Given the description of an element on the screen output the (x, y) to click on. 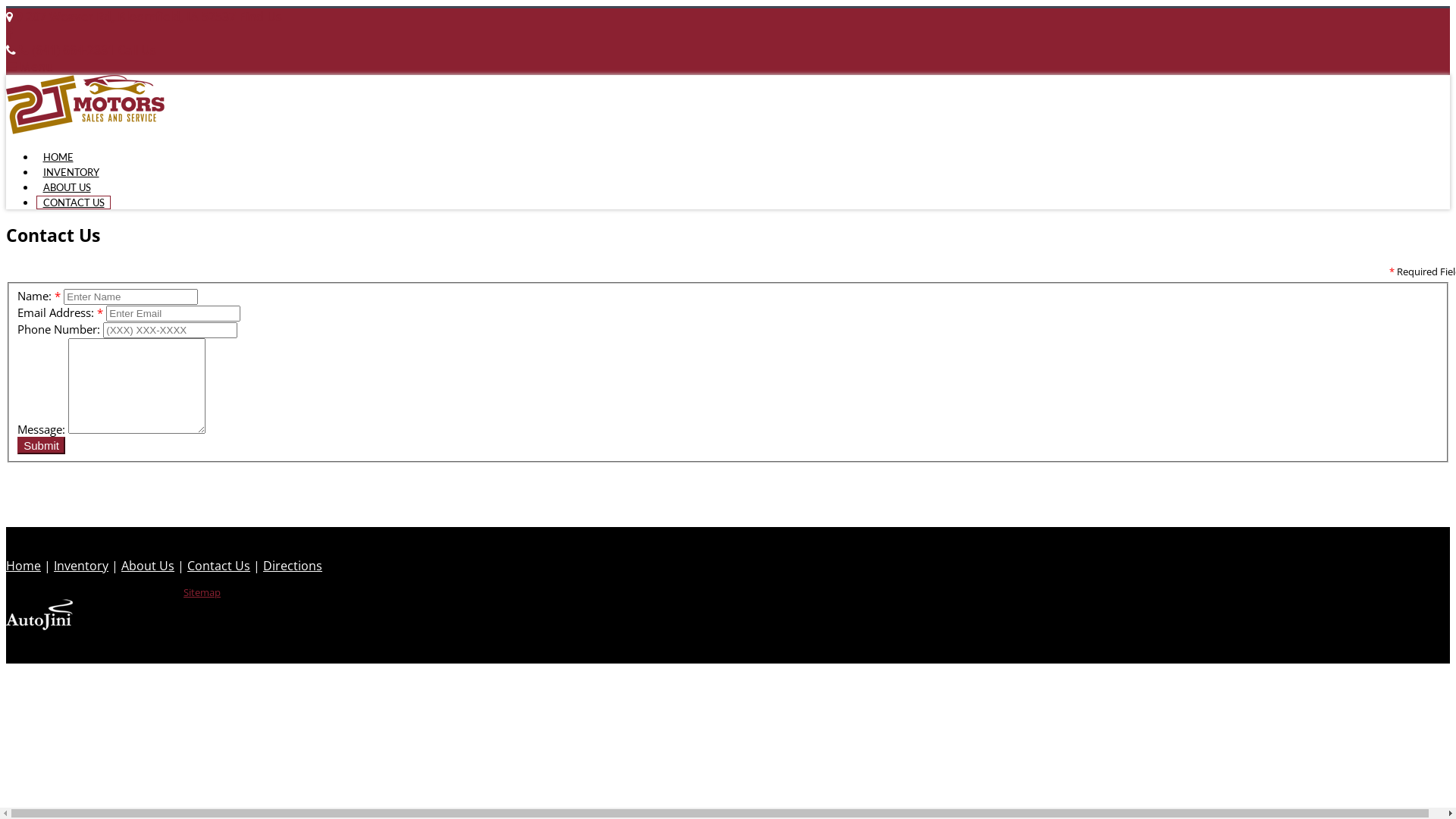
CONTACT US Element type: text (73, 202)
Menu Element type: text (29, 66)
Directions Element type: text (292, 565)
Contact Us Element type: text (218, 565)
Home Element type: text (23, 565)
(641) 664-2331 Call Us Element type: text (87, 49)
HOME Element type: text (57, 156)
Inventory Element type: text (80, 565)
Car Dealer Website & SEO By AutoJini Element type: hover (39, 625)
ABOUT US Element type: text (66, 187)
Sitemap Element type: text (201, 592)
INVENTORY Element type: text (70, 171)
207 Weaver Rd, Bloomfield, IA 52537 Find Us Element type: text (148, 16)
About Us Element type: text (147, 565)
Submit Element type: text (41, 445)
